Given the description of an element on the screen output the (x, y) to click on. 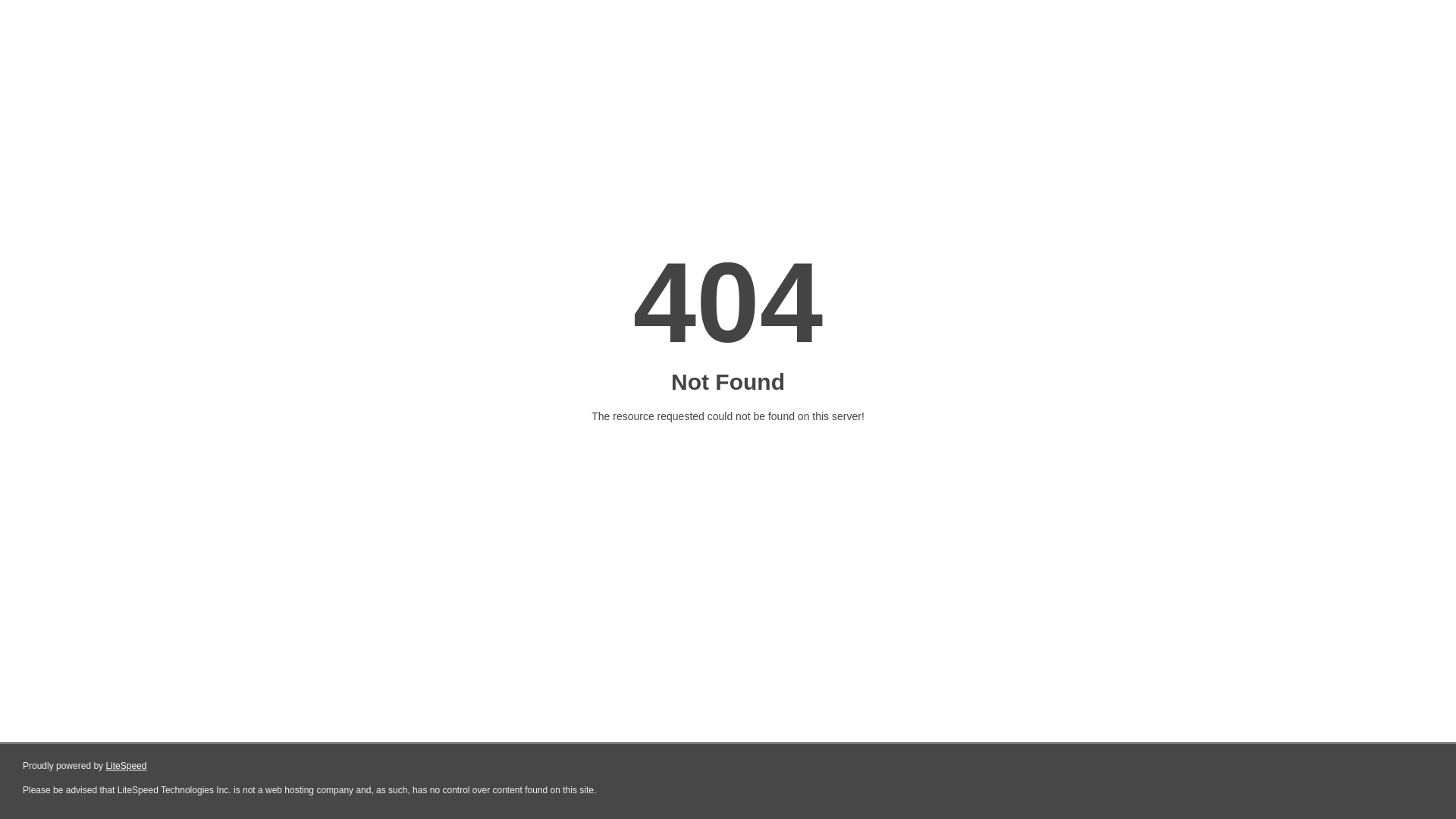
LiteSpeed (125, 765)
